Given the description of an element on the screen output the (x, y) to click on. 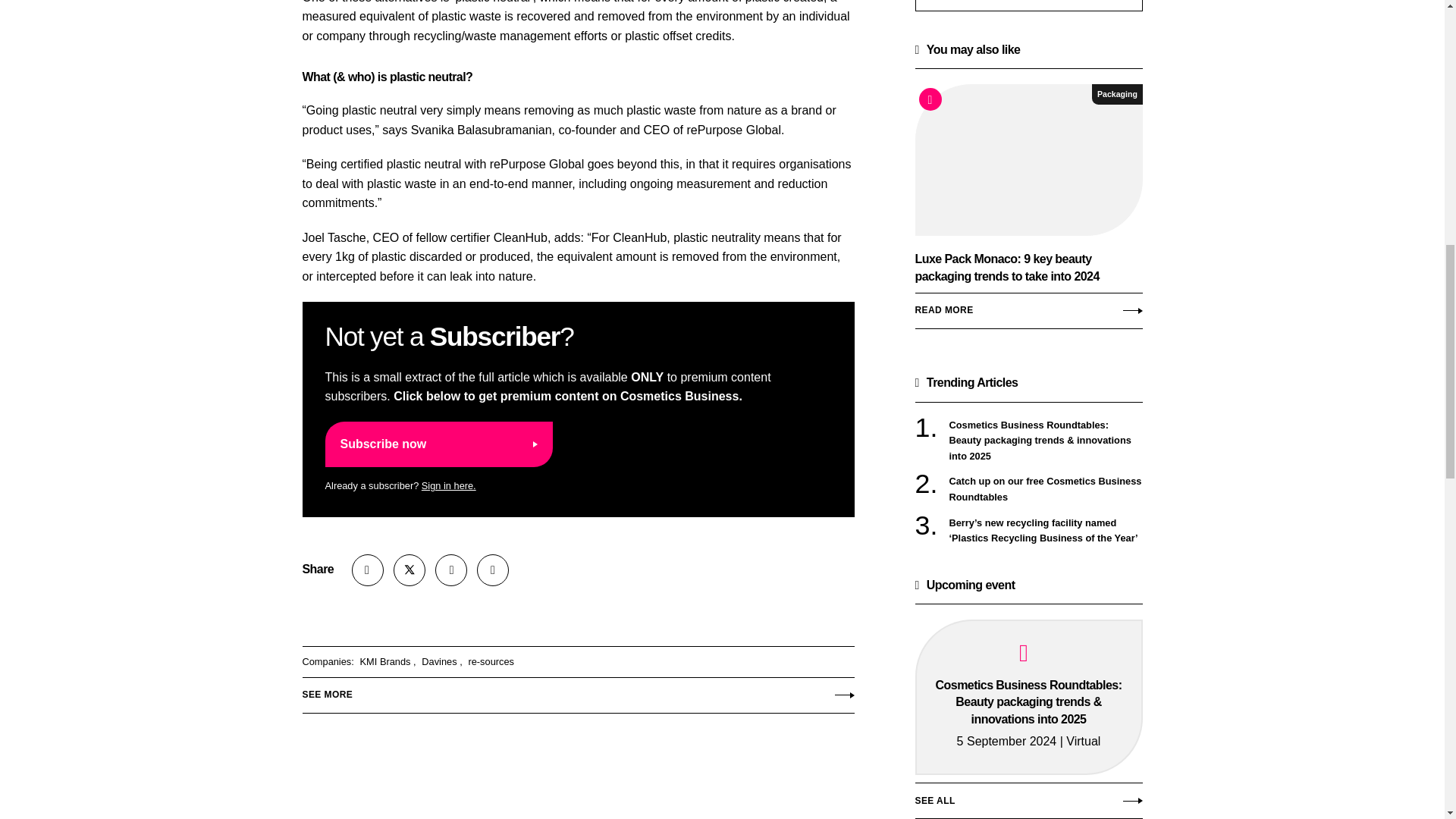
Share this article (368, 570)
Sign in here. (449, 485)
X (409, 570)
Subscribe now (437, 443)
Follow Cosmetics Business on X (409, 570)
LinkedIn (451, 570)
Share (368, 570)
